Given the description of an element on the screen output the (x, y) to click on. 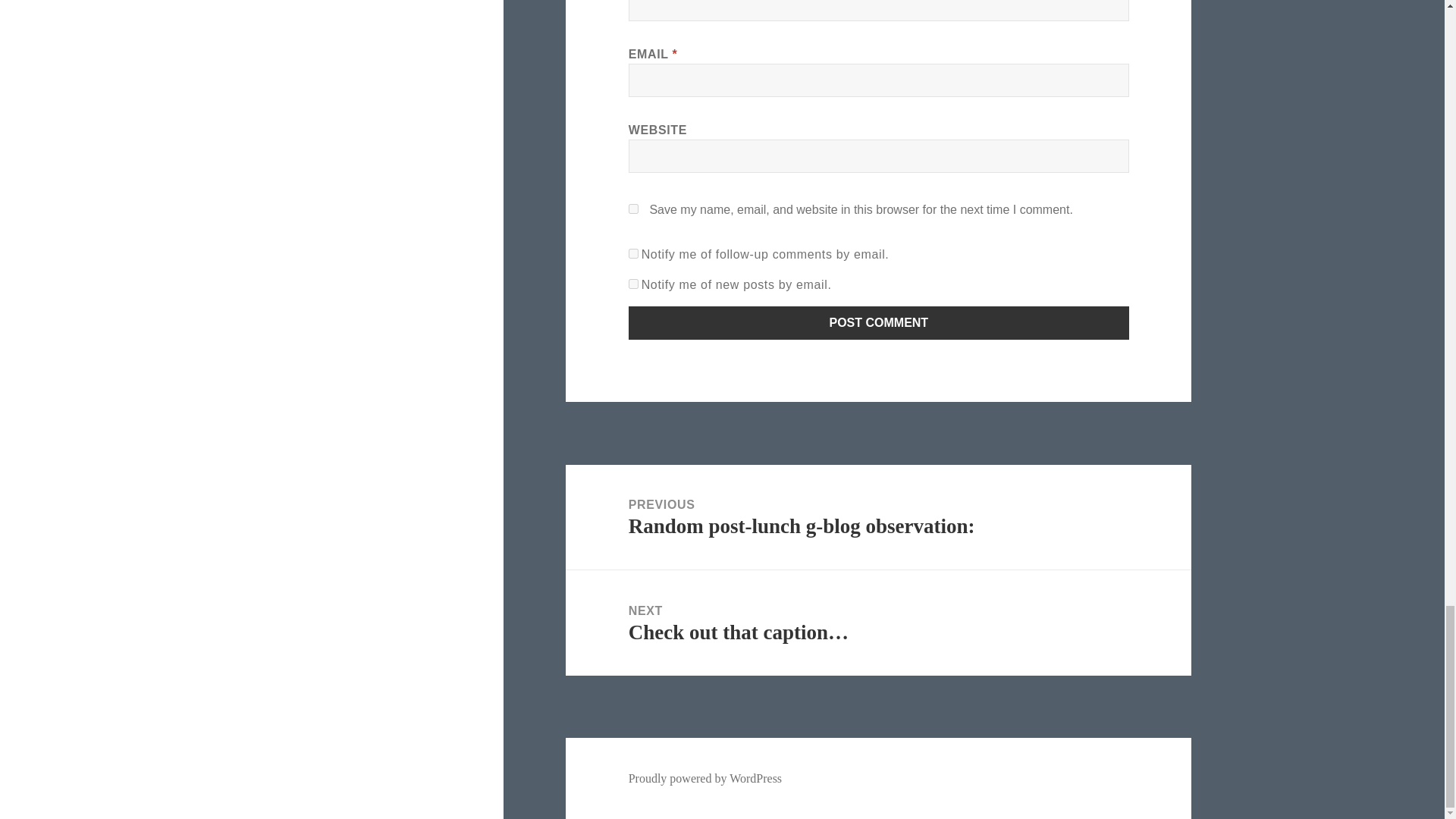
subscribe (633, 284)
subscribe (633, 253)
Post Comment (878, 322)
yes (633, 208)
Proudly powered by WordPress (704, 778)
Post Comment (878, 322)
